Given the description of an element on the screen output the (x, y) to click on. 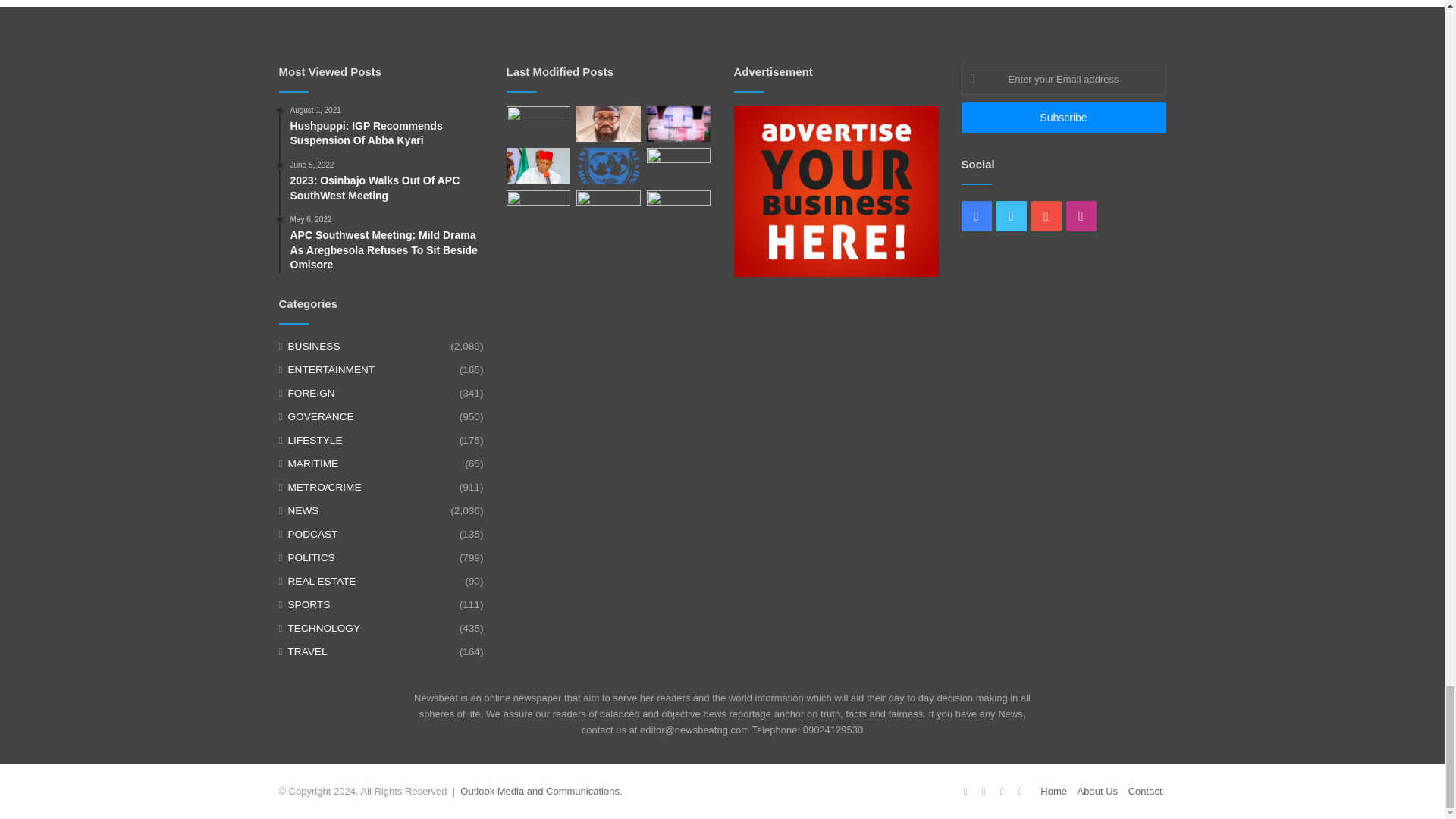
Subscribe (1063, 117)
